Given the description of an element on the screen output the (x, y) to click on. 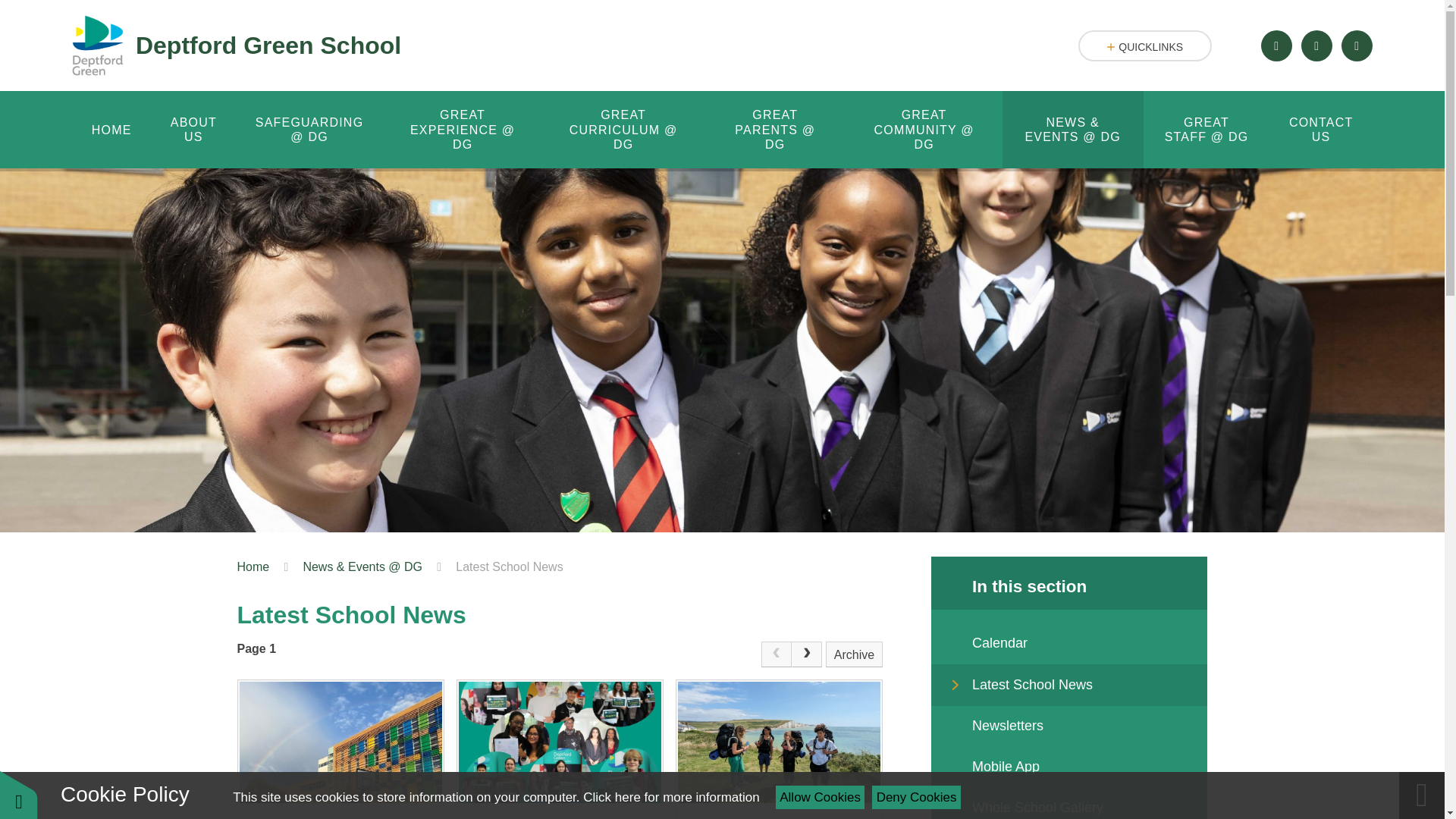
Cookie Settings (18, 794)
Deptford Green School (236, 45)
Deny Cookies (915, 797)
HOME (111, 129)
See cookie policy (670, 797)
Allow Cookies (820, 797)
ABOUT US (193, 129)
